Given the description of an element on the screen output the (x, y) to click on. 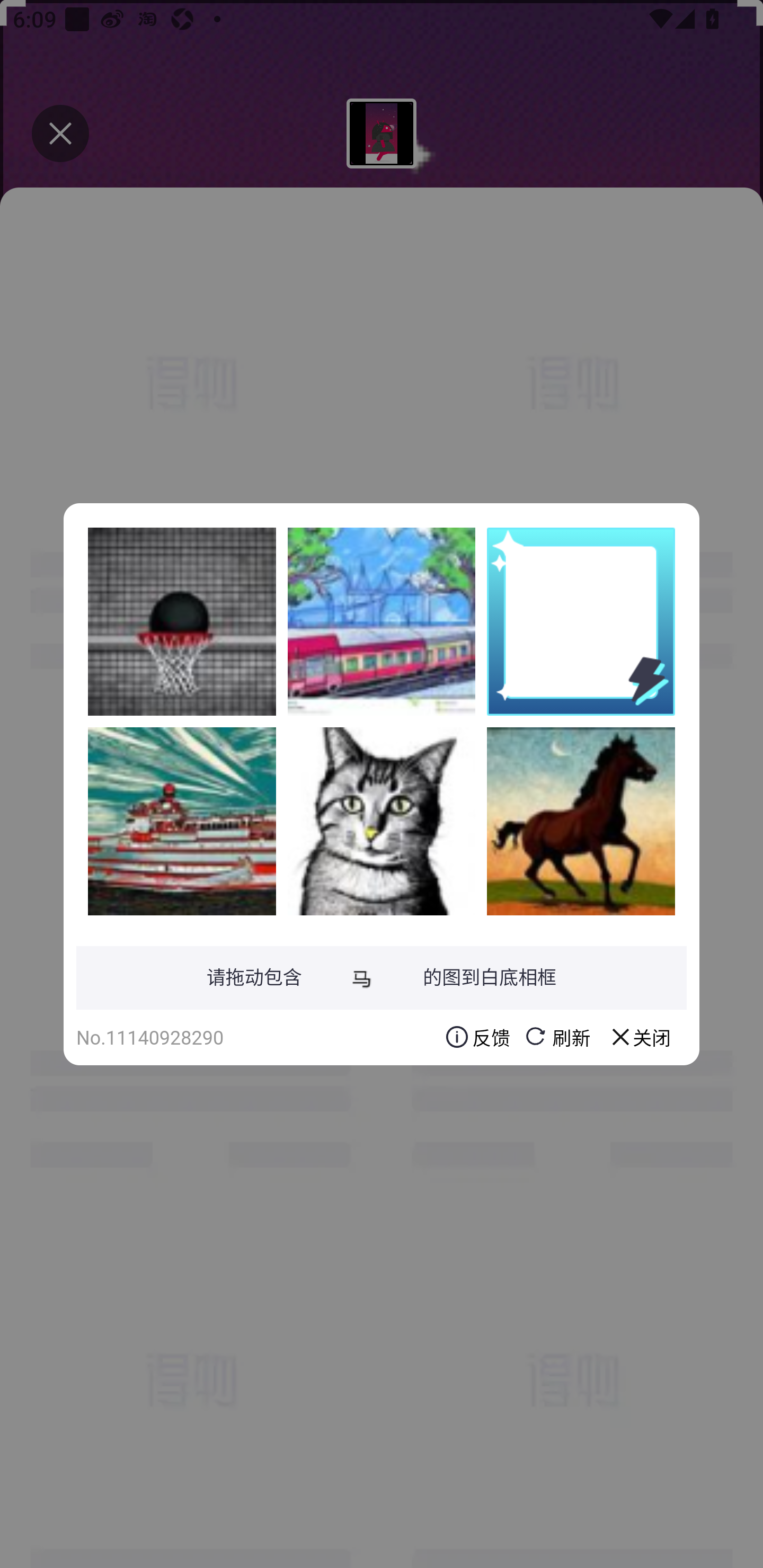
zNQzY6bBCT5HHsJZ (381, 621)
yVoqAymMp7J+8vO (181, 820)
UVYaNqgn9evVNVCHDR0sy5YultnBM2X7tlh16w2ybX (381, 820)
